Given the description of an element on the screen output the (x, y) to click on. 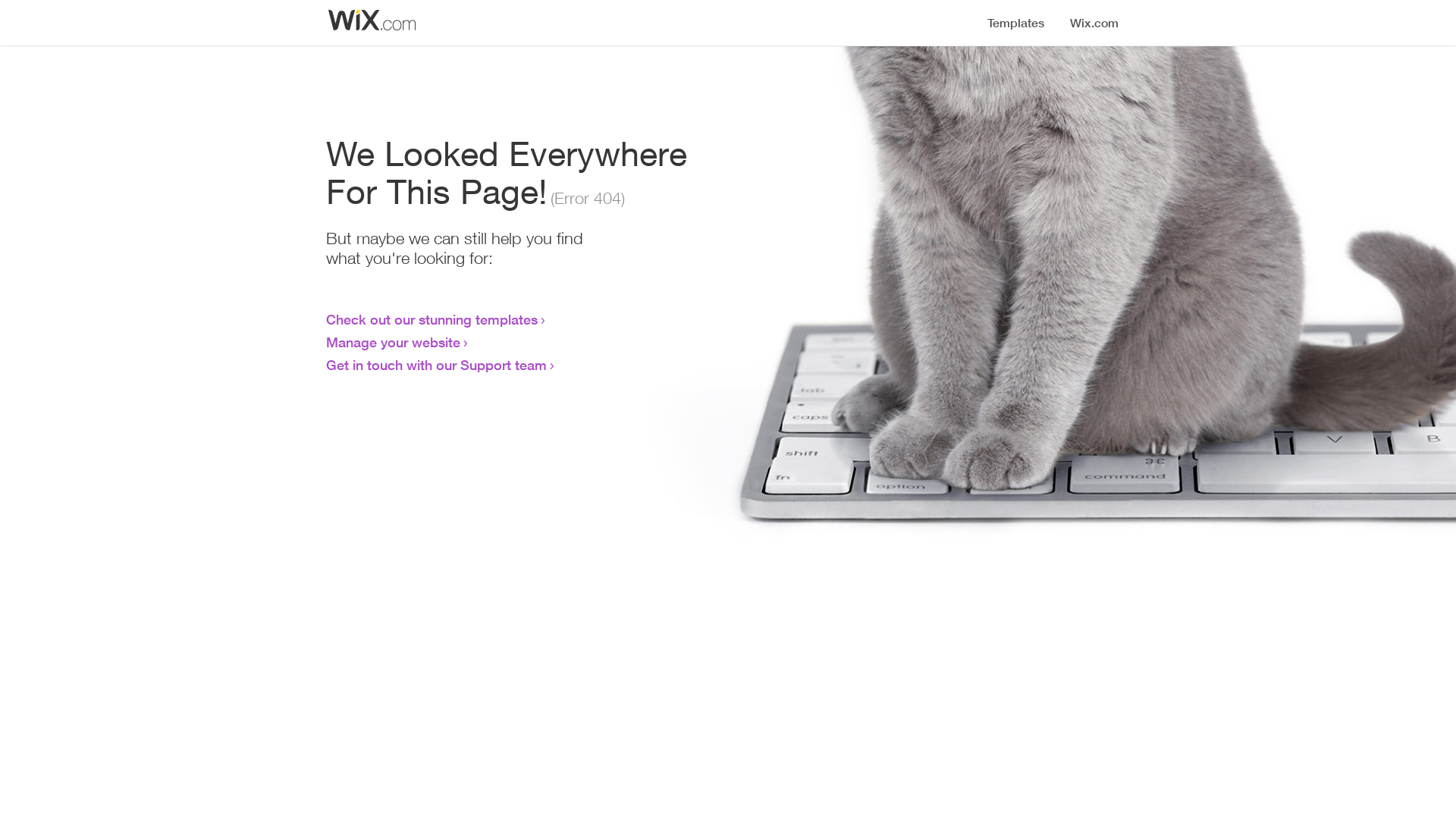
Manage your website Element type: text (393, 341)
Get in touch with our Support team Element type: text (436, 364)
Check out our stunning templates Element type: text (431, 318)
